Given the description of an element on the screen output the (x, y) to click on. 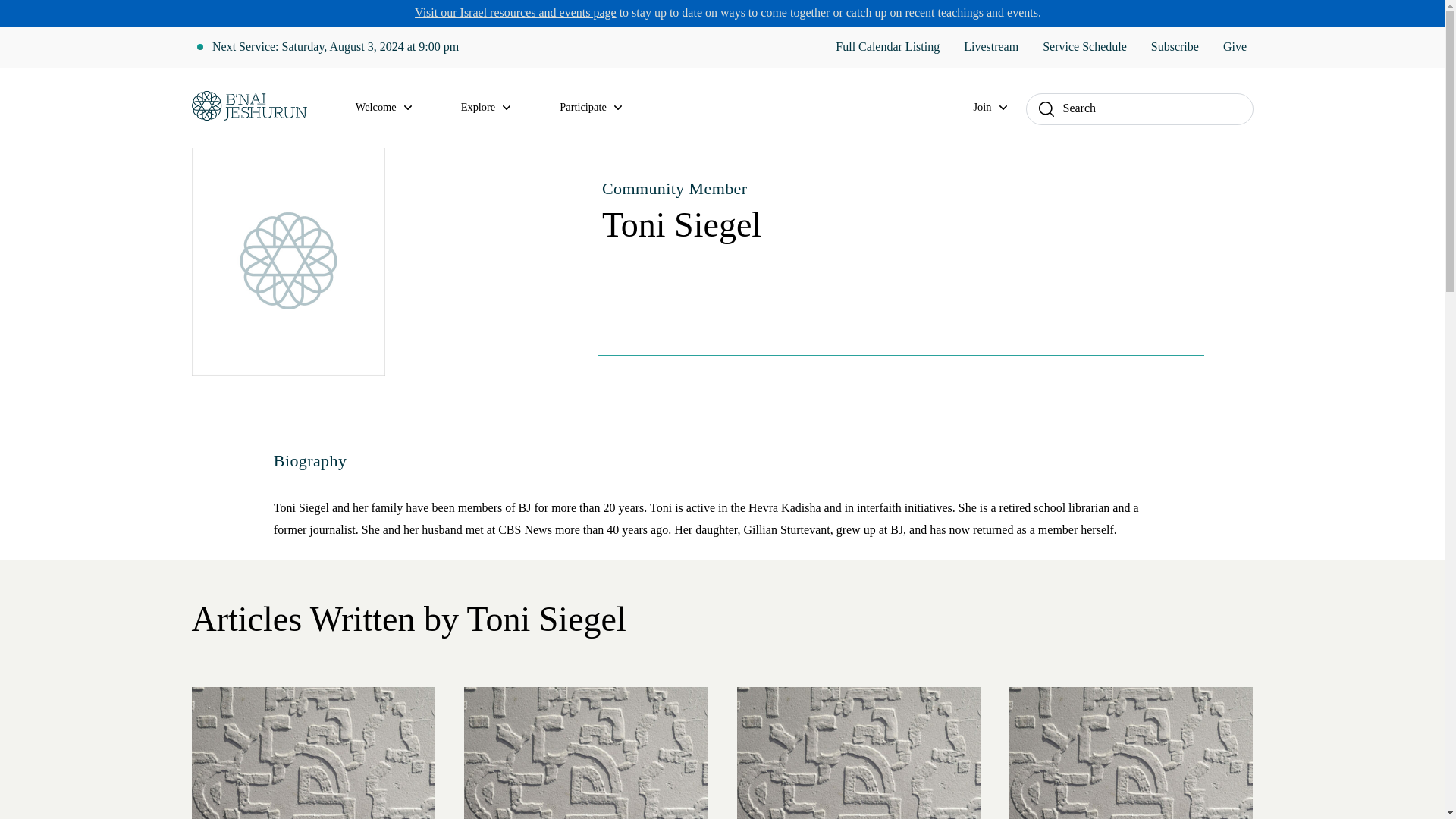
Livestream (990, 47)
Participate (599, 107)
Subscribe (1174, 47)
Next Service: Saturday, August 3, 2024 at 9:00 pm (335, 47)
Full Calendar Listing (887, 47)
Visit our Israel resources and events page (514, 12)
Service Schedule (1084, 47)
Give (1234, 47)
Welcome (392, 107)
